Given the description of an element on the screen output the (x, y) to click on. 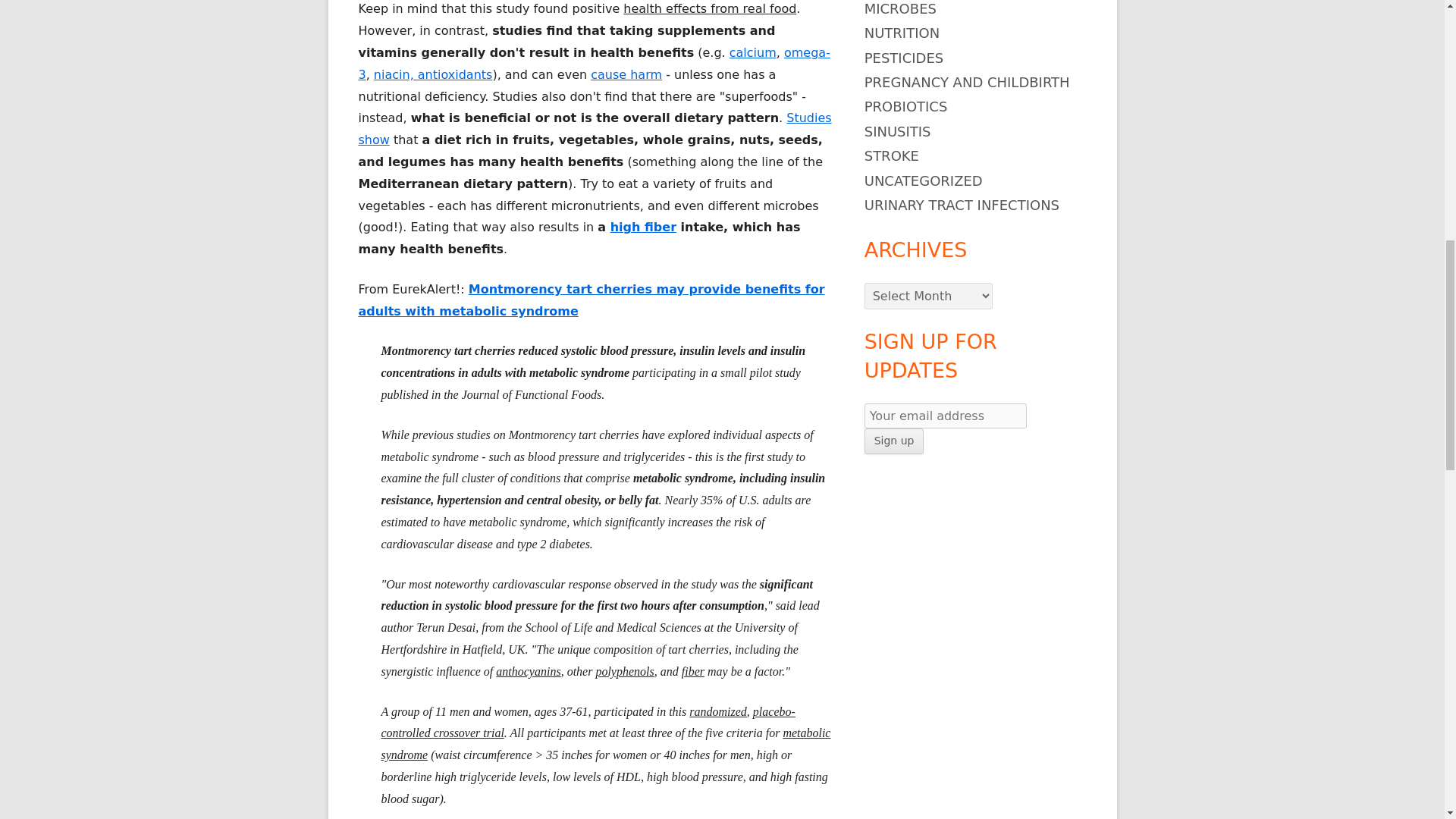
high fiber (643, 227)
Sign up (894, 441)
Studies show (594, 128)
cause harm (626, 74)
omega-3 (593, 63)
niacin, antioxidants (433, 74)
calcium (752, 52)
